Given the description of an element on the screen output the (x, y) to click on. 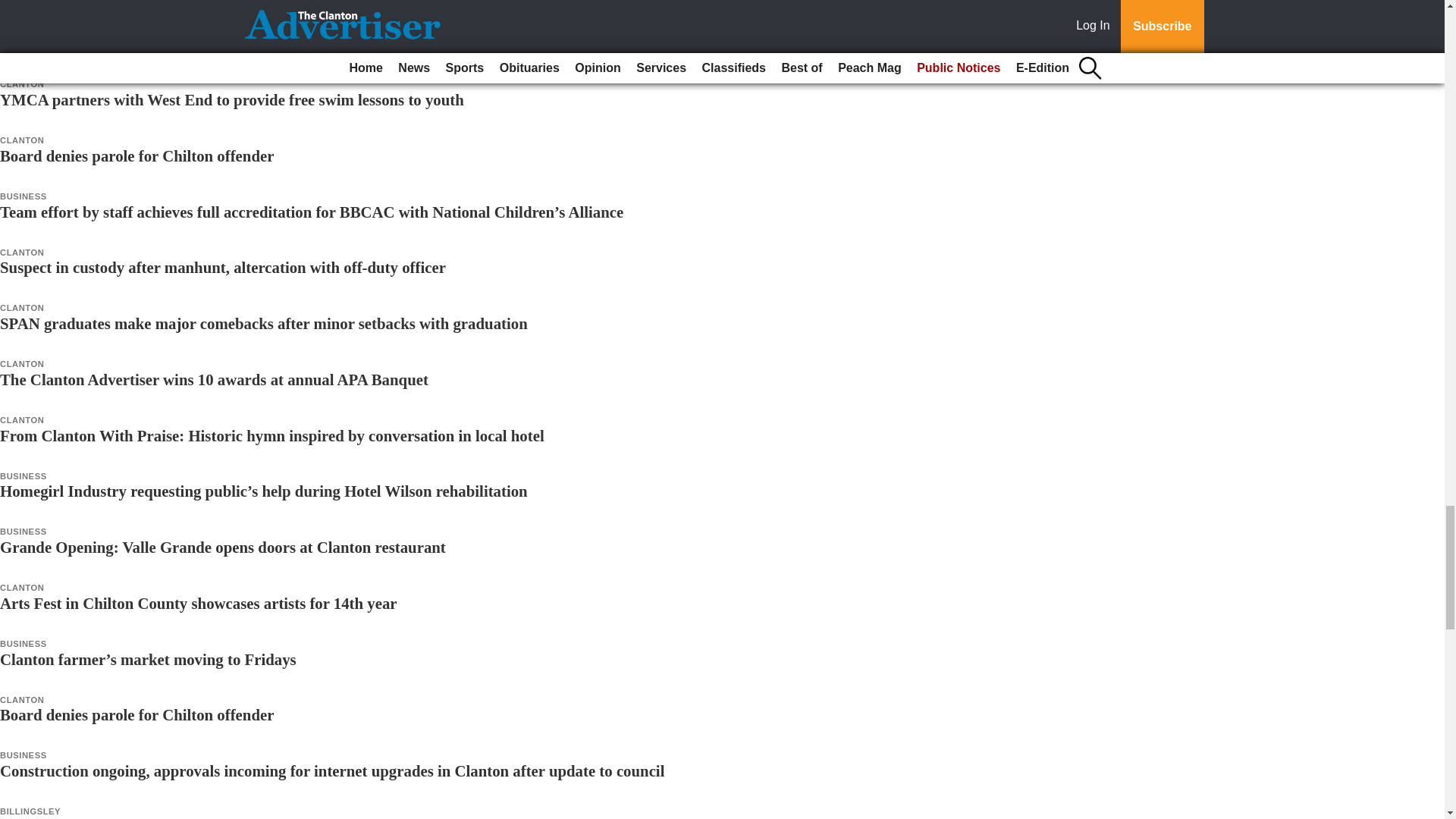
Arts Fest in Chilton County showcases artists for 14th year (198, 602)
The Clanton Advertiser wins 10 awards at annual APA Banquet (214, 379)
Board denies parole for Chilton offender (136, 155)
Board denies parole for Chilton offender (136, 155)
Board denies parole for Chilton offender (136, 714)
